Given the description of an element on the screen output the (x, y) to click on. 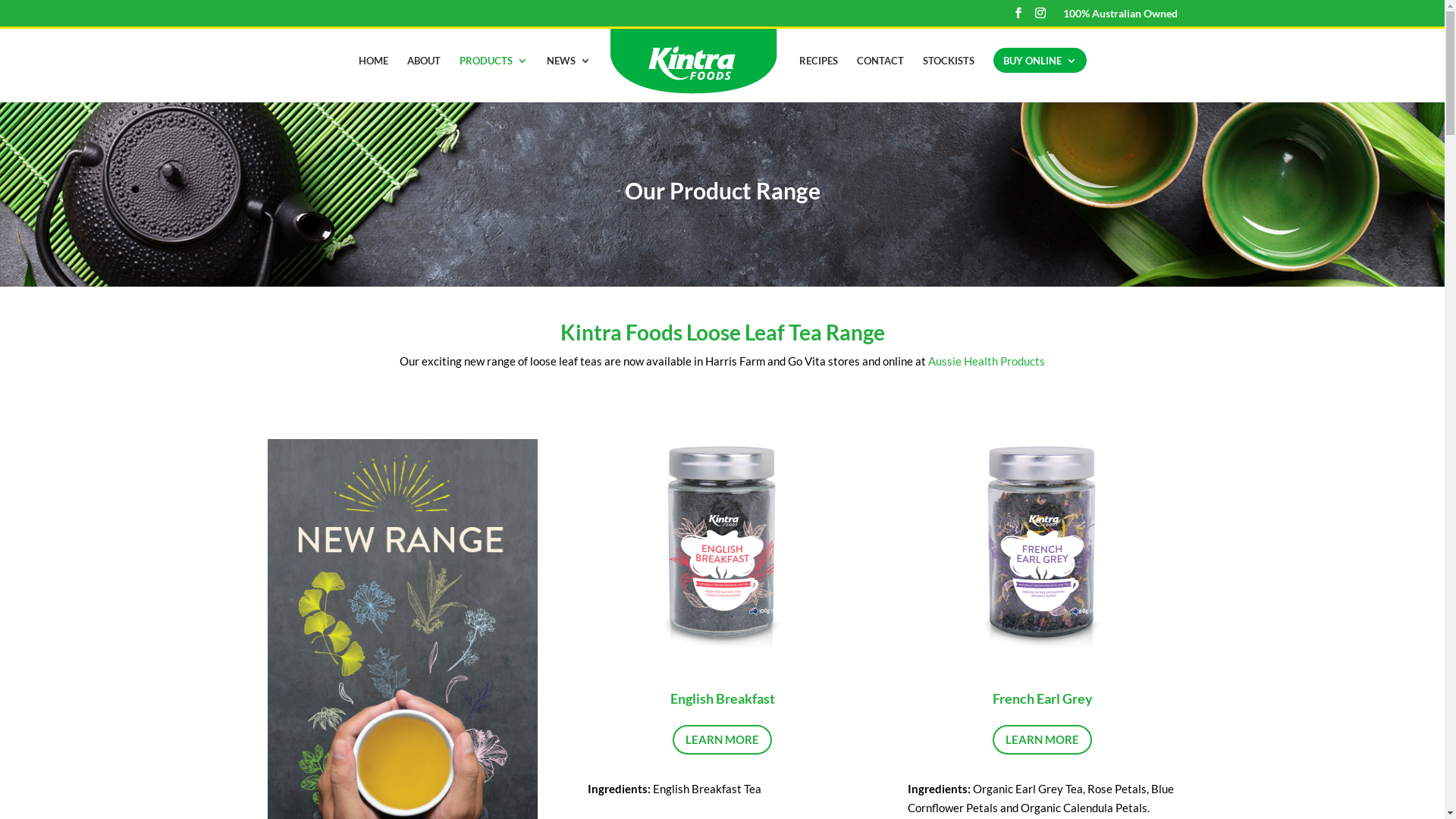
English Breakfast Element type: text (722, 698)
French Earl Grey Element type: text (1041, 698)
STOCKISTS Element type: text (947, 78)
CONTACT Element type: text (879, 78)
PRODUCTS Element type: text (493, 78)
HOME Element type: text (372, 78)
LEARN MORE Element type: text (1042, 739)
100% Australian Owned Element type: text (1120, 16)
Aussie Health Products Element type: text (986, 360)
LEARN MORE Element type: text (721, 739)
NEWS Element type: text (567, 78)
RECIPES Element type: text (818, 78)
ABOUT Element type: text (422, 78)
BUY ONLINE Element type: text (1039, 78)
